Given the description of an element on the screen output the (x, y) to click on. 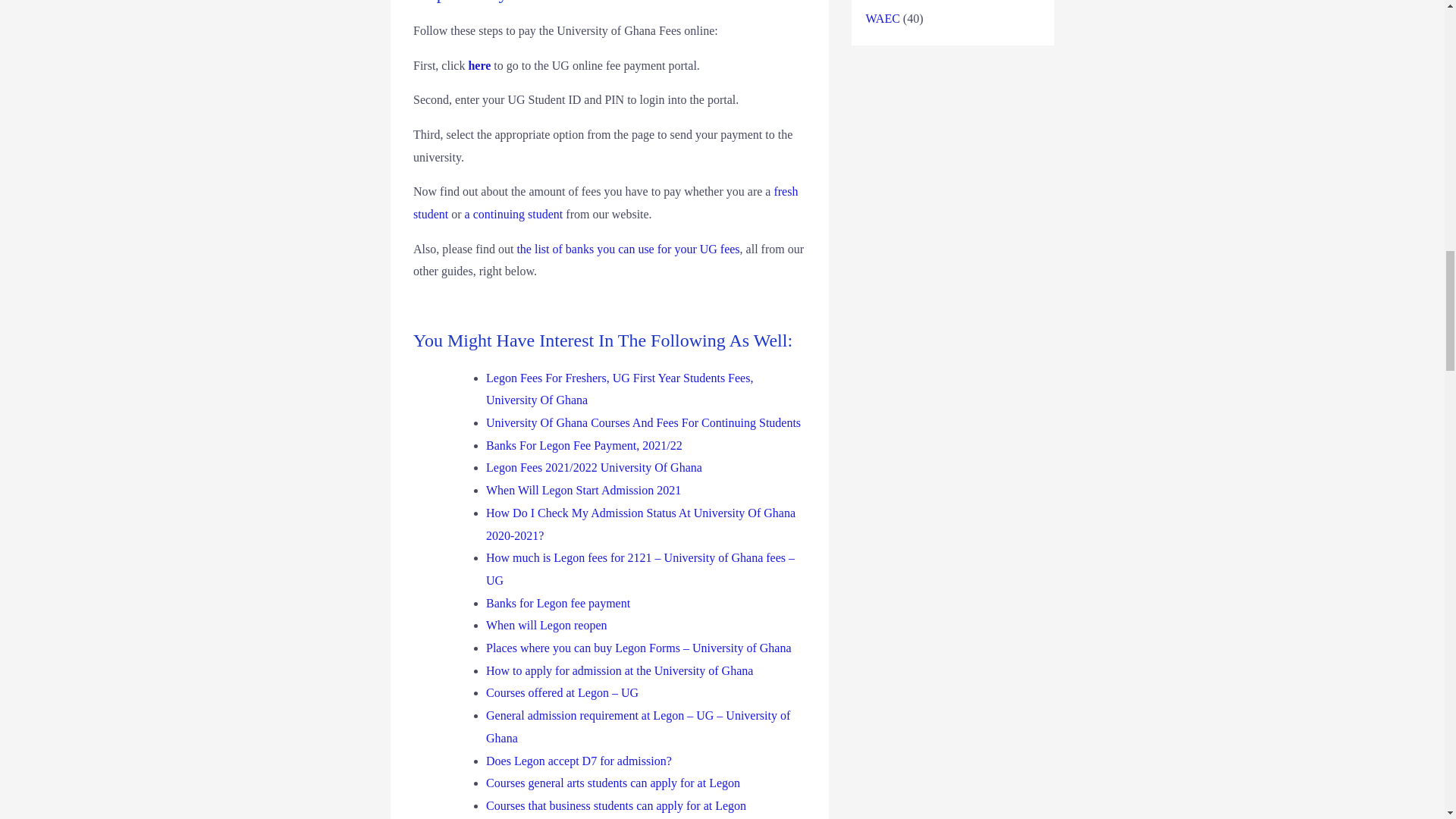
fresh student (605, 202)
the list of banks you can use for your UG fees (627, 248)
a continuing student (513, 214)
here (478, 65)
